Given the description of an element on the screen output the (x, y) to click on. 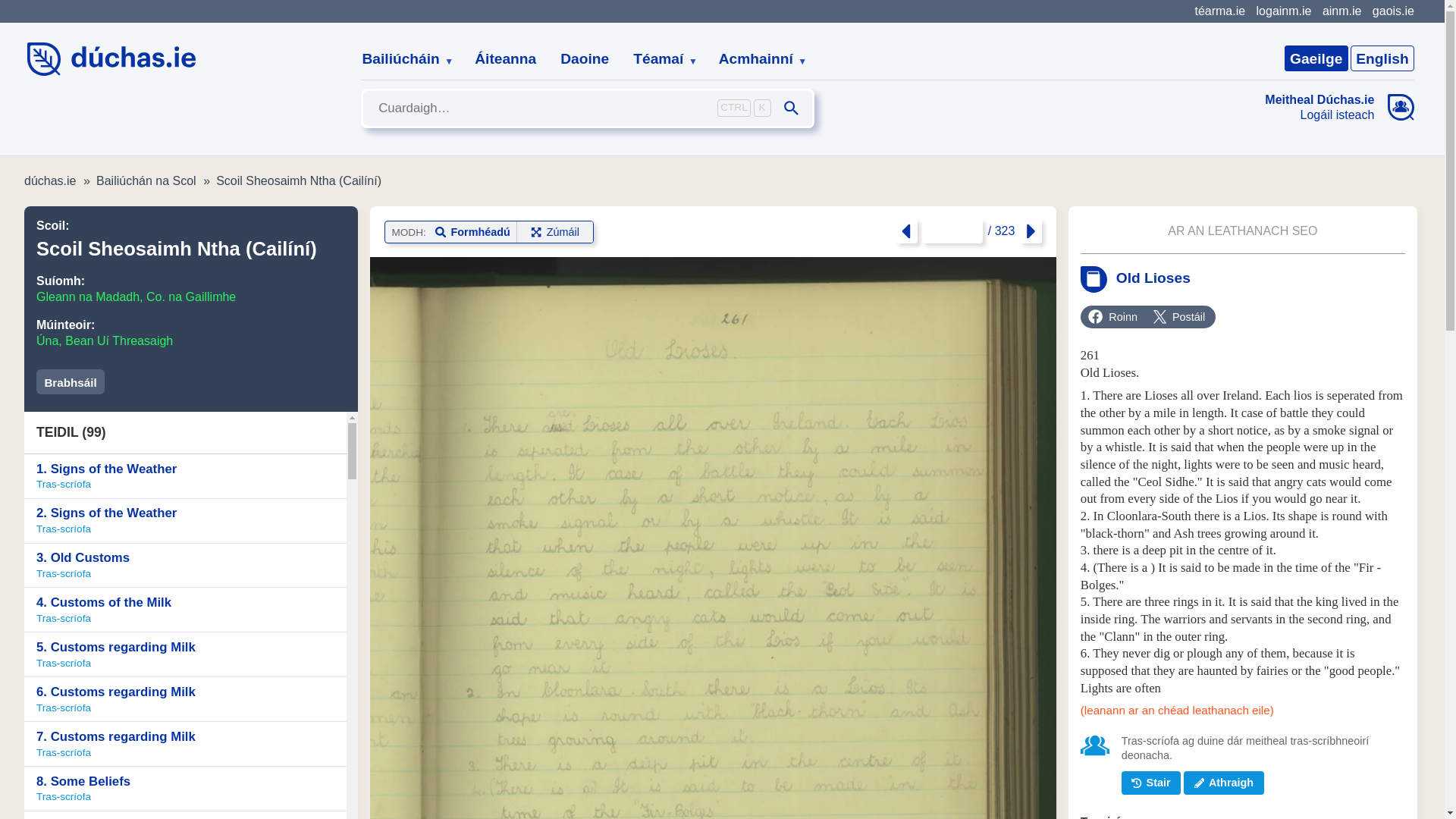
gaois.ie (1393, 11)
Gaeilge (1316, 58)
Daoine (584, 58)
ainm.ie (1341, 11)
logainm.ie (1283, 11)
Gleann na Madadh, Co. na Gaillimhe (135, 296)
English (1382, 58)
